Given the description of an element on the screen output the (x, y) to click on. 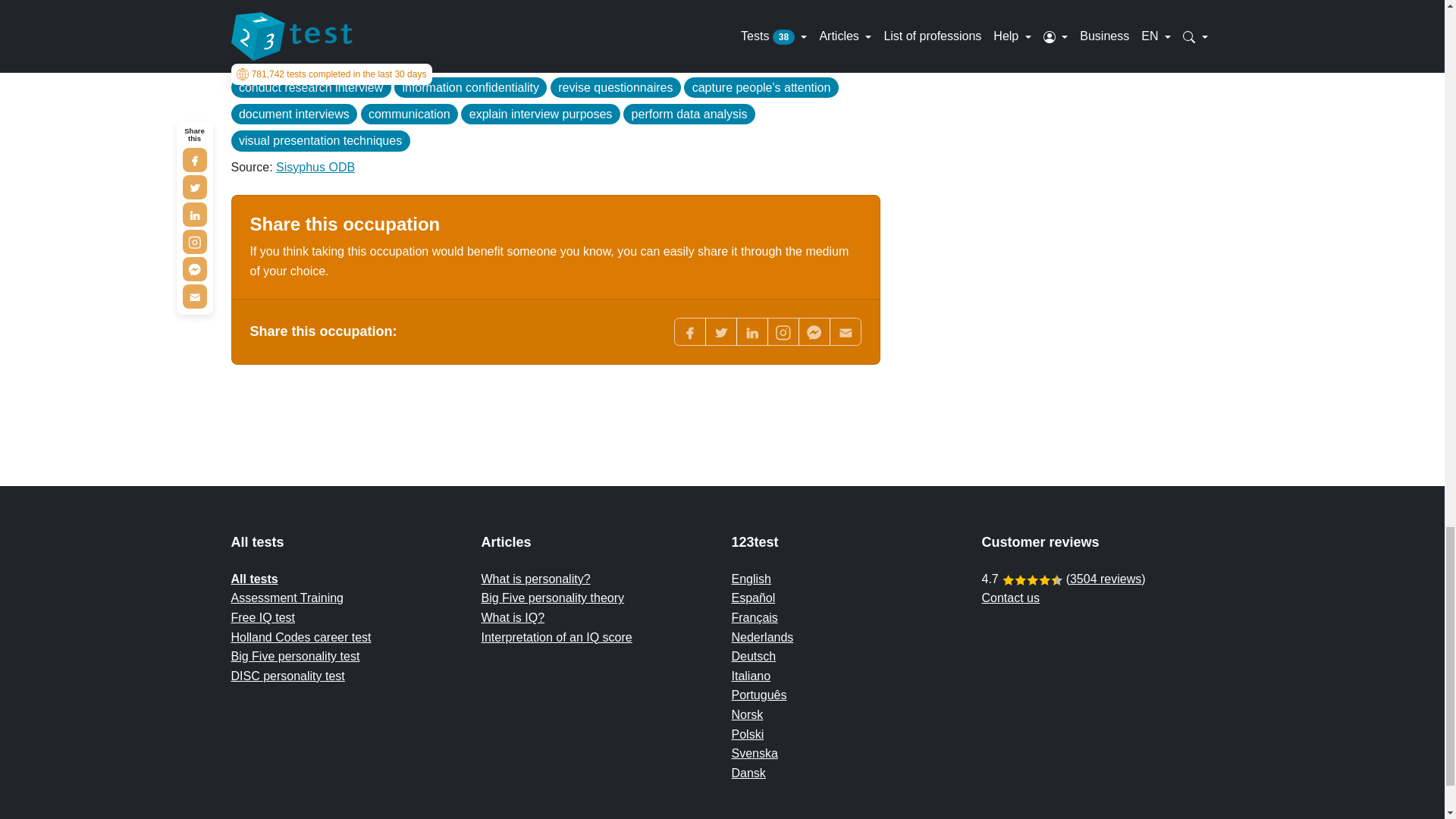
Sisyphus ODB (315, 166)
 Facebook (688, 331)
 LinkedIn (751, 331)
Instagram (783, 331)
 Twitter (720, 331)
